Given the description of an element on the screen output the (x, y) to click on. 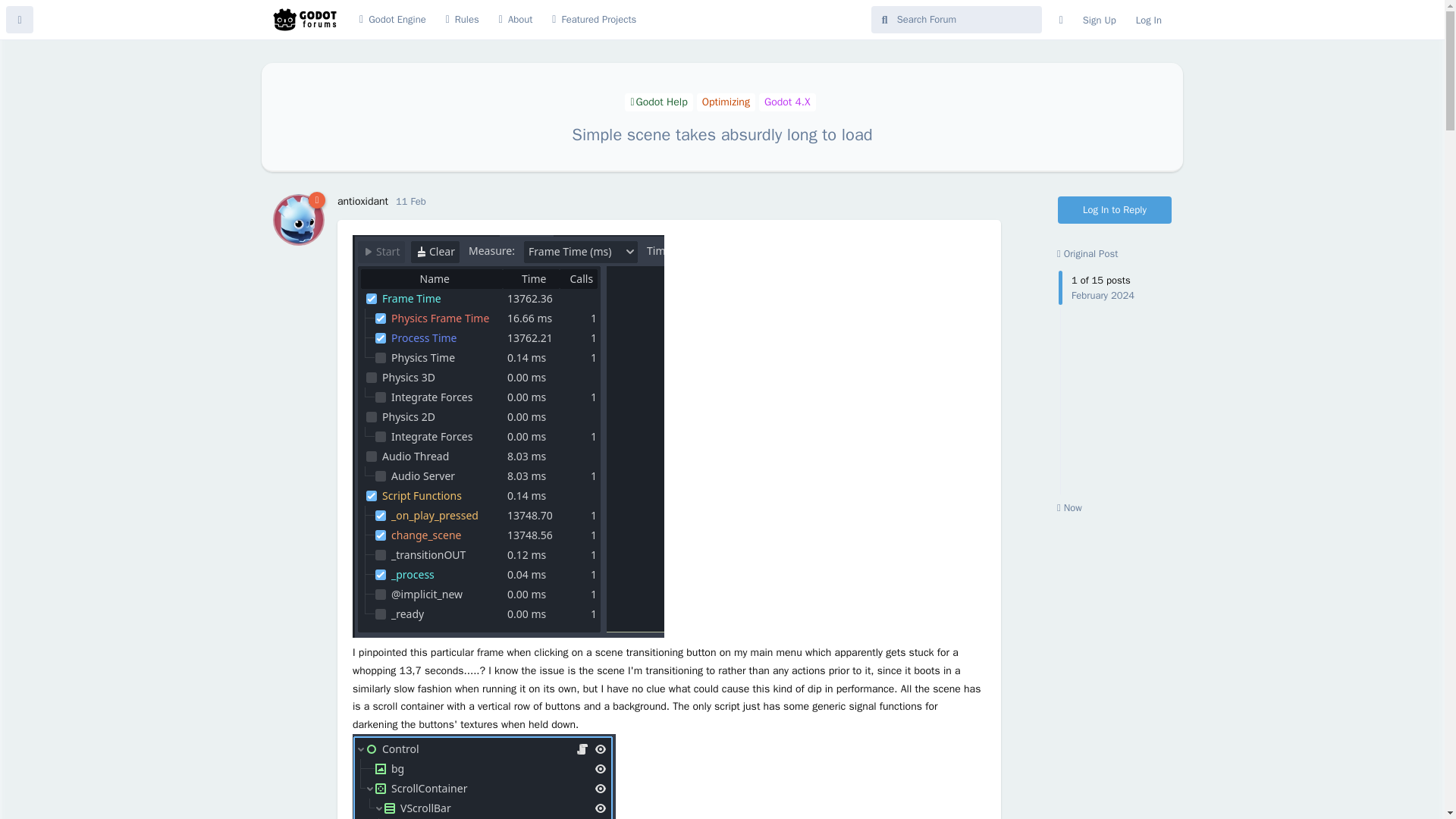
Log In (1148, 19)
Now (1069, 507)
Godot Engine (362, 201)
Featured Projects (392, 19)
Tag for discussions and questions for Godot 4 (593, 19)
Log In to Reply (786, 102)
Godot 4.X (1115, 209)
Optimizing (786, 102)
Sign Up (726, 102)
